Given the description of an element on the screen output the (x, y) to click on. 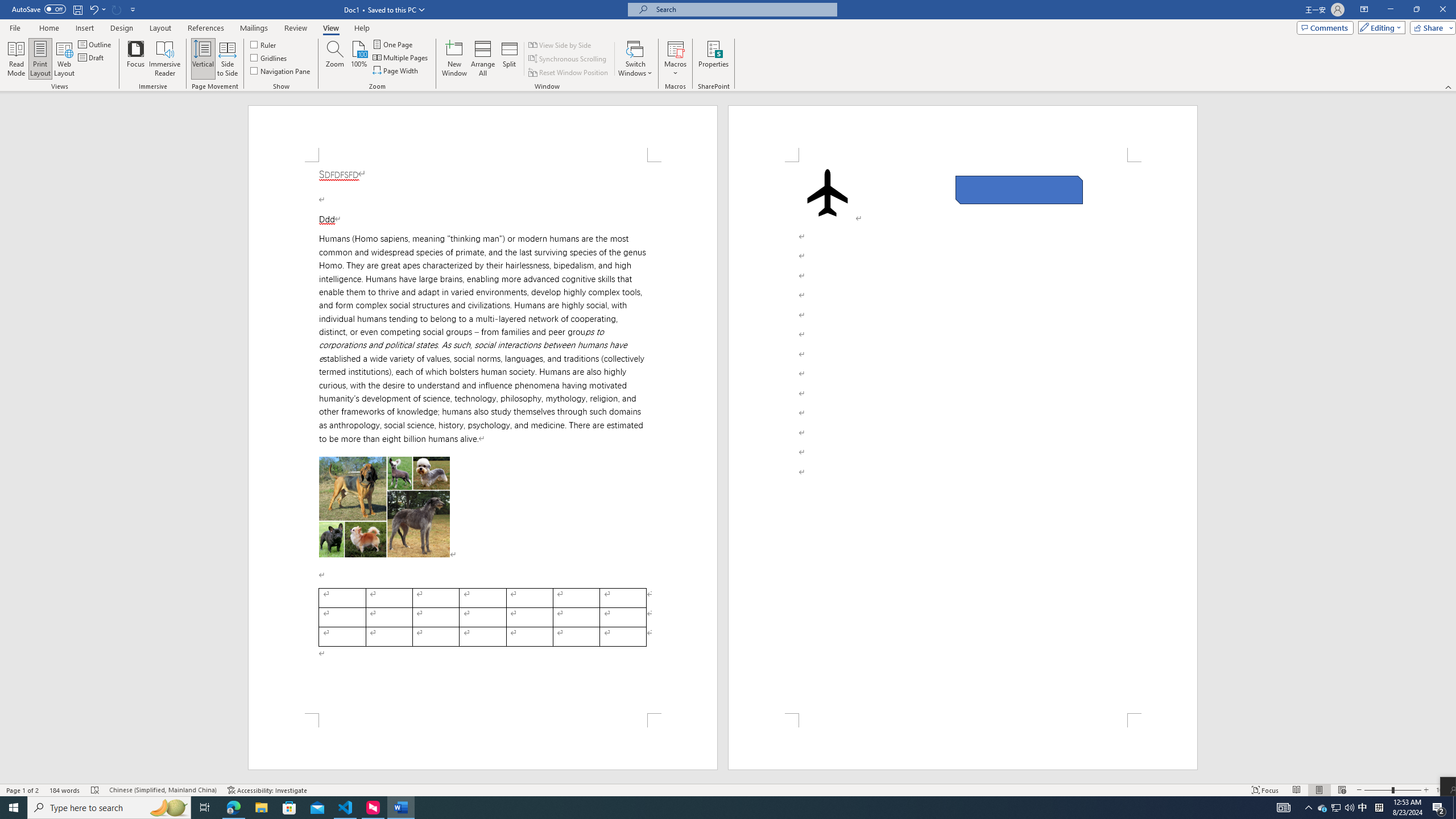
View Side by Side (561, 44)
Side to Side (226, 58)
Split (509, 58)
Switch Windows (635, 58)
Page 1 content (482, 437)
Reset Window Position (569, 72)
Class: NetUIScrollBar (1450, 437)
Properties (713, 58)
Page Number Page 1 of 2 (22, 790)
Share (1430, 27)
Gridlines (269, 56)
Minimize (1390, 9)
Draft (91, 56)
Design (122, 28)
View (330, 28)
